Given the description of an element on the screen output the (x, y) to click on. 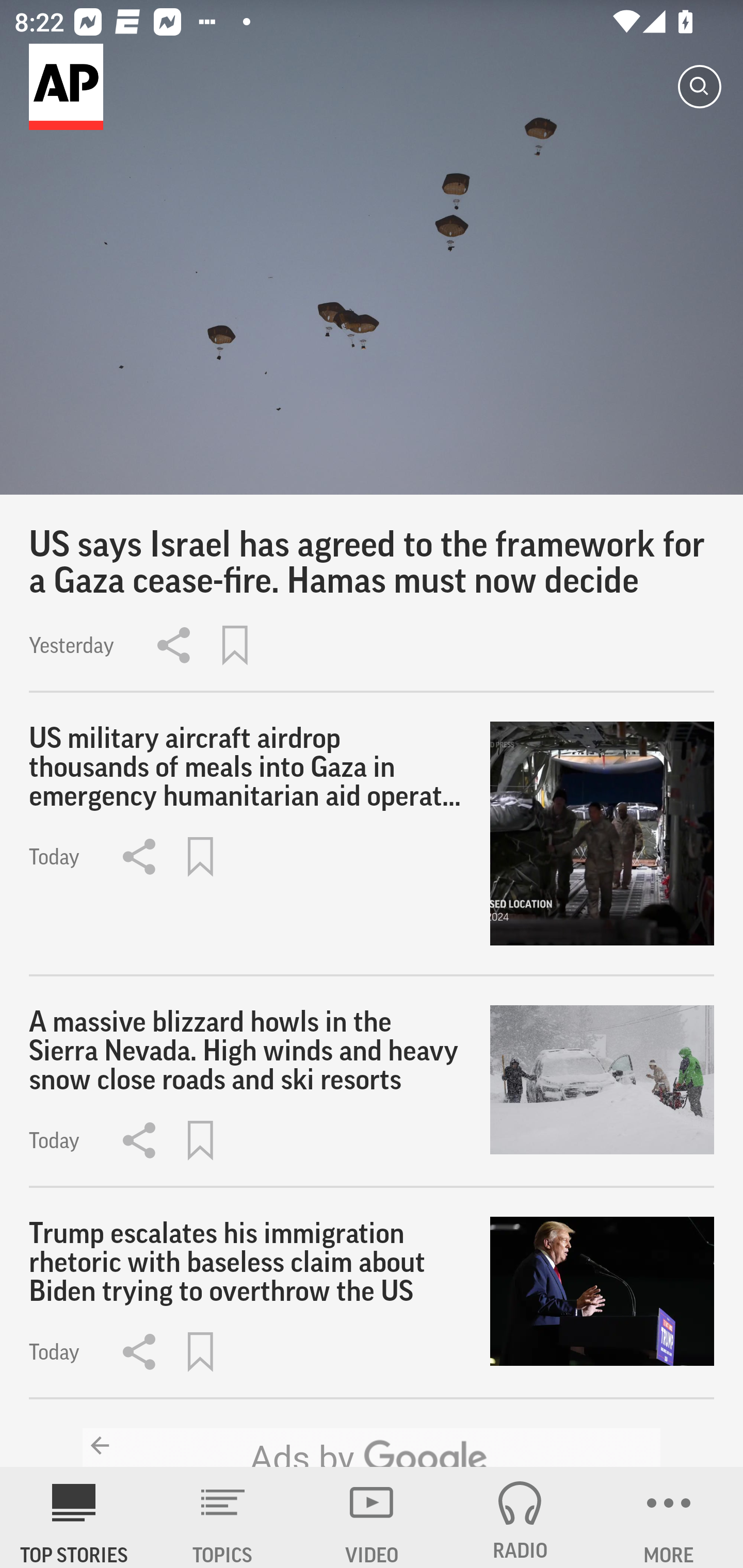
AP News TOP STORIES (74, 1517)
TOPICS (222, 1517)
VIDEO (371, 1517)
RADIO (519, 1517)
MORE (668, 1517)
